Given the description of an element on the screen output the (x, y) to click on. 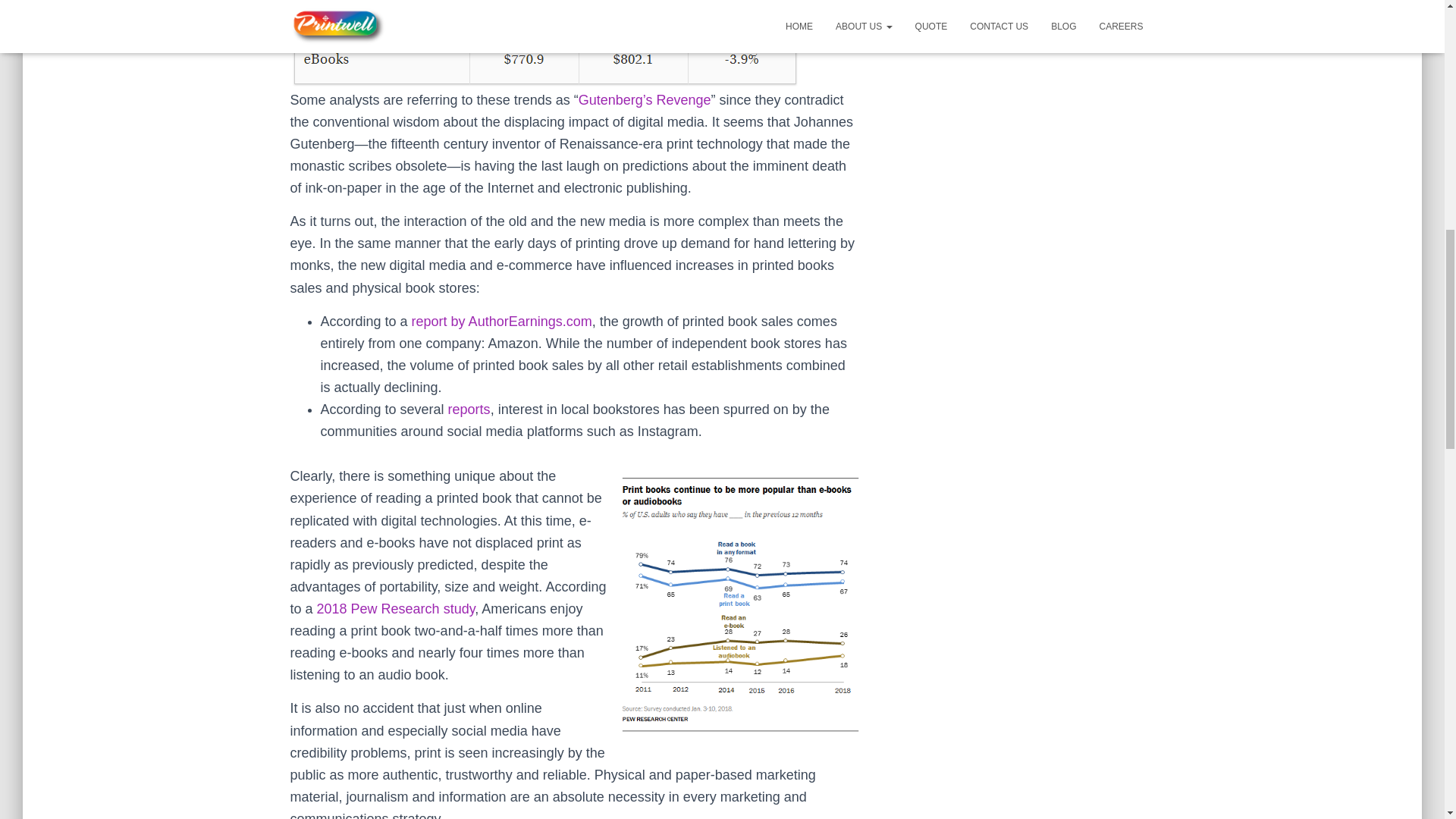
2018 Pew Research study (396, 608)
report by AuthorEarnings.com (502, 321)
reports (469, 409)
